Given the description of an element on the screen output the (x, y) to click on. 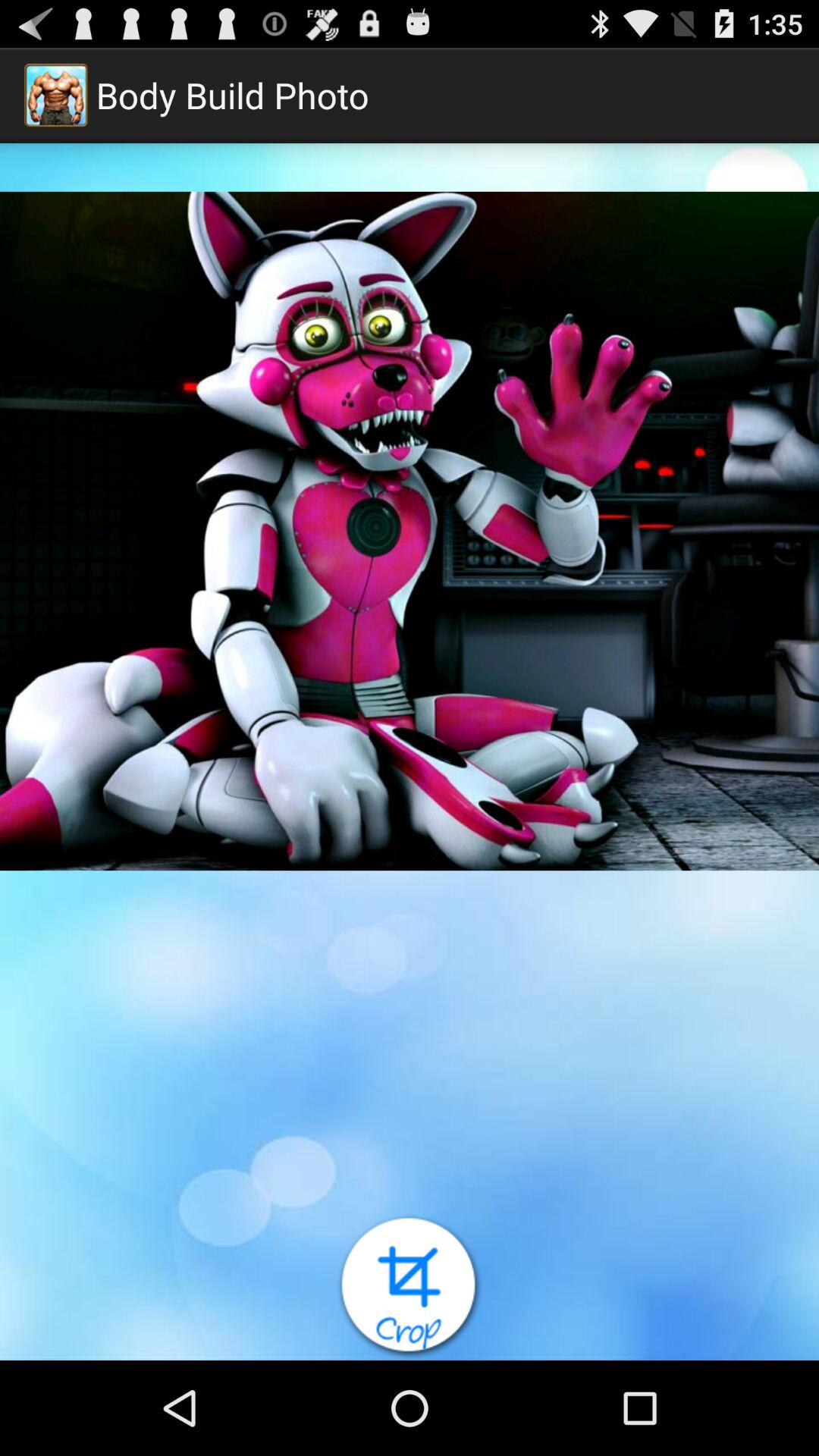
select icon at the bottom (409, 1287)
